Given the description of an element on the screen output the (x, y) to click on. 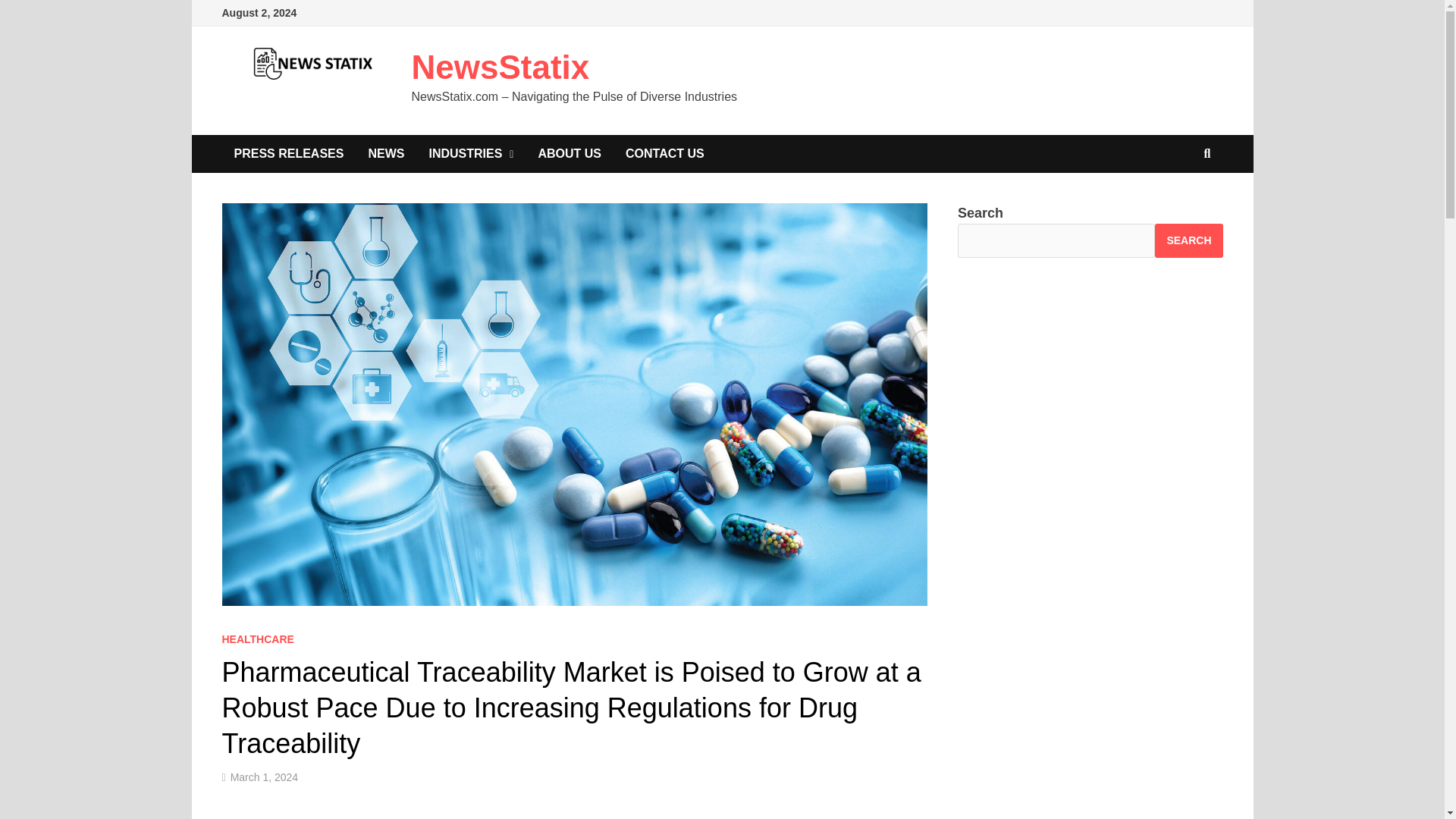
NEWS (385, 153)
CONTACT US (664, 153)
ABOUT US (568, 153)
NewsStatix (499, 66)
PRESS RELEASES (288, 153)
INDUSTRIES (470, 153)
